Given the description of an element on the screen output the (x, y) to click on. 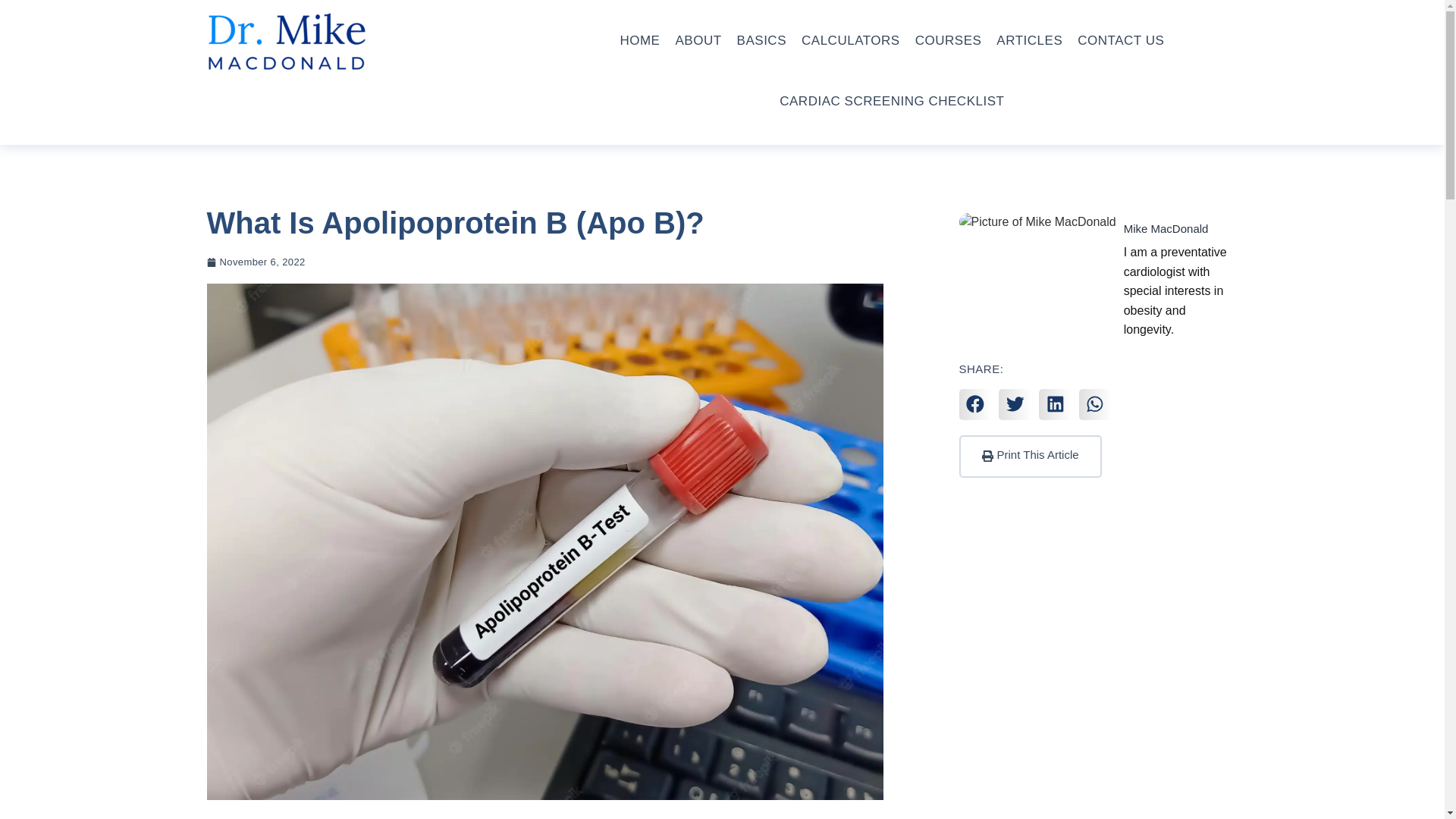
CALCULATORS (850, 40)
DrMikeMacDonald logo (285, 41)
ABOUT (697, 40)
HOME (639, 40)
BASICS (761, 40)
COURSES (948, 40)
CONTACT US (1120, 40)
Print This Article (1029, 455)
ARTICLES (1028, 40)
November 6, 2022 (255, 262)
CARDIAC SCREENING CHECKLIST (891, 101)
